Given the description of an element on the screen output the (x, y) to click on. 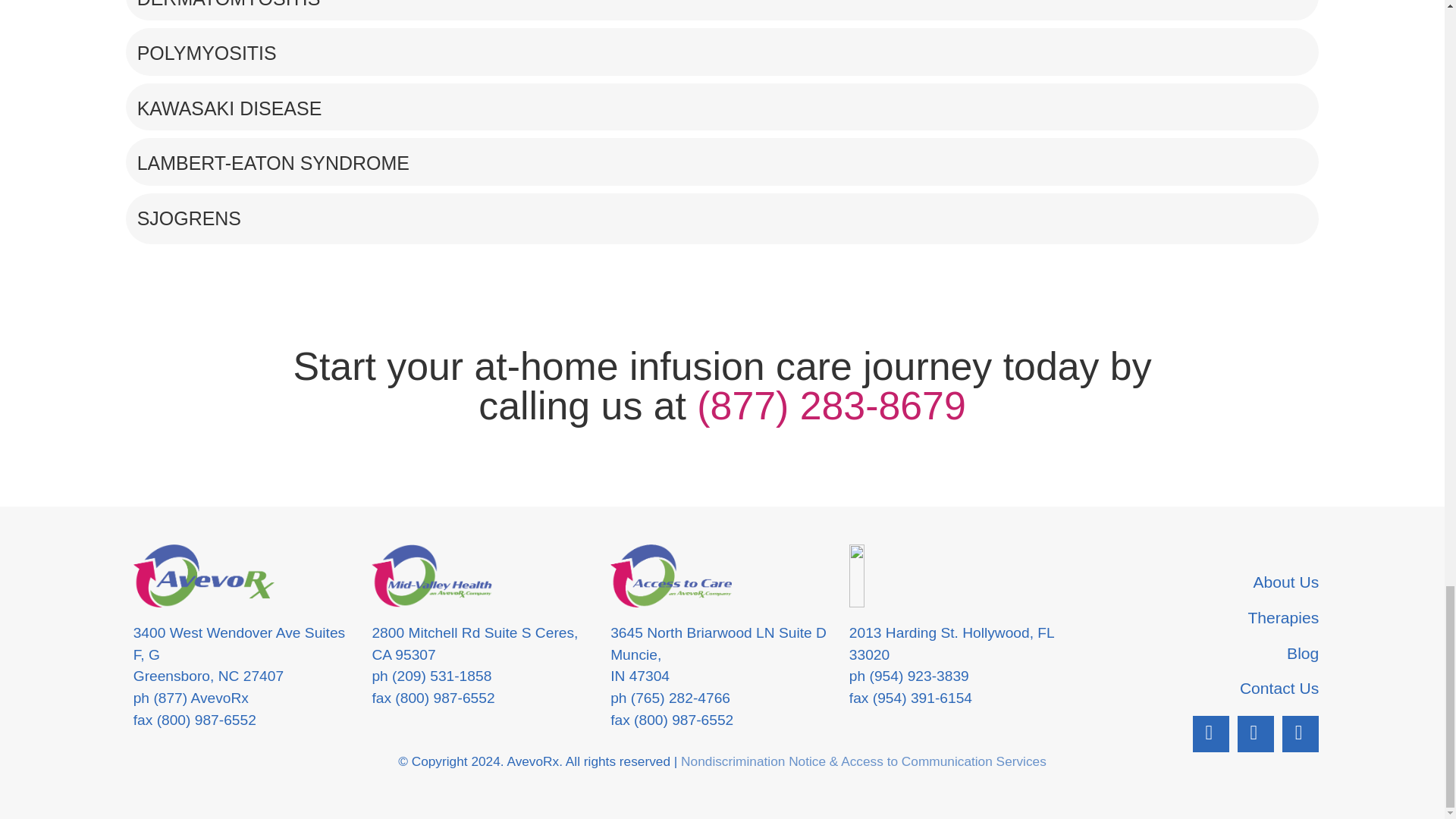
Contact Us (1199, 688)
Therapies (1199, 617)
Instagram (1255, 733)
Linkedin (1300, 733)
Facebook (1210, 733)
About Us (1199, 582)
Blog (1199, 653)
